Given the description of an element on the screen output the (x, y) to click on. 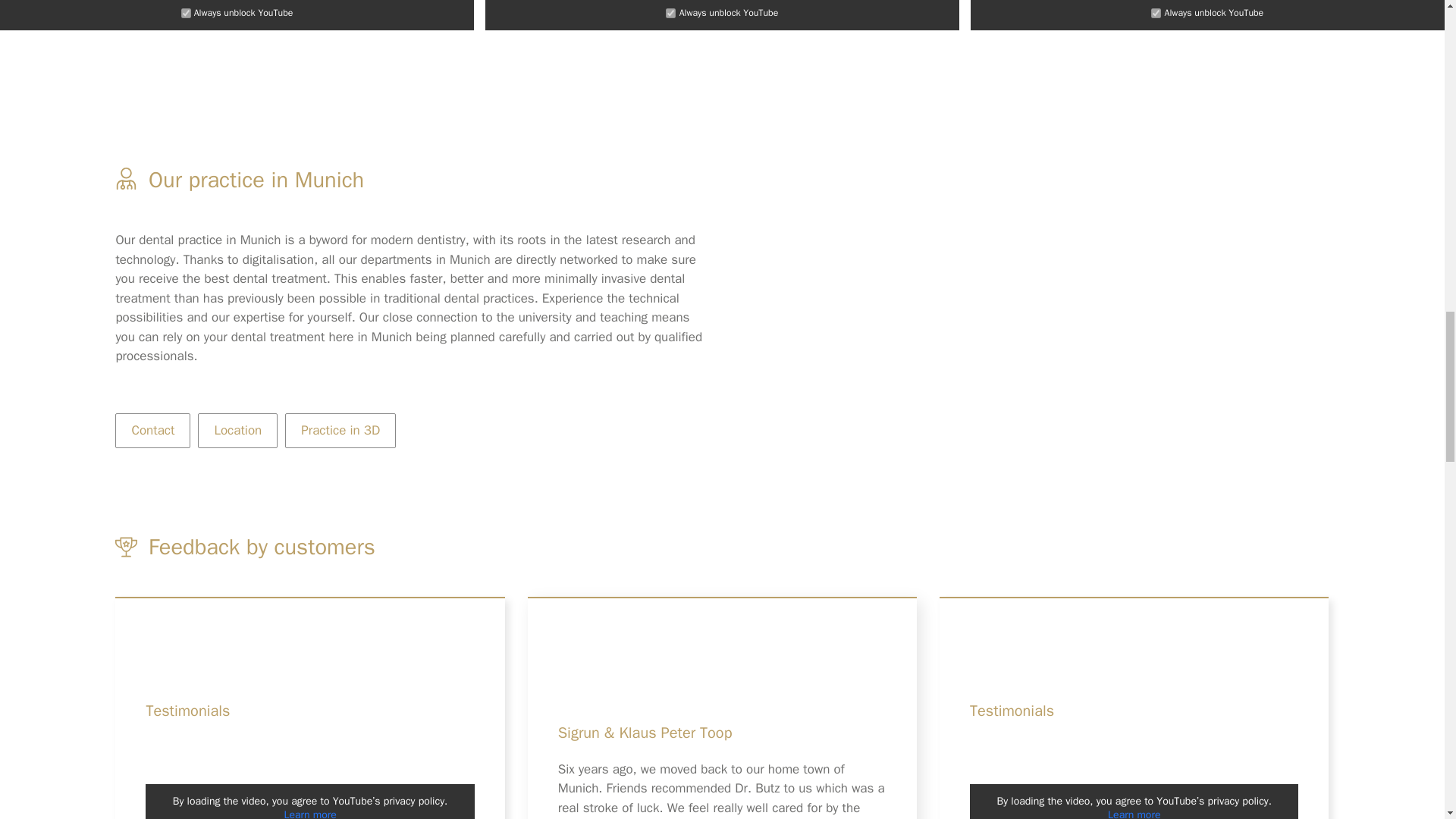
1 (1155, 13)
1 (670, 13)
1 (185, 13)
